Given the description of an element on the screen output the (x, y) to click on. 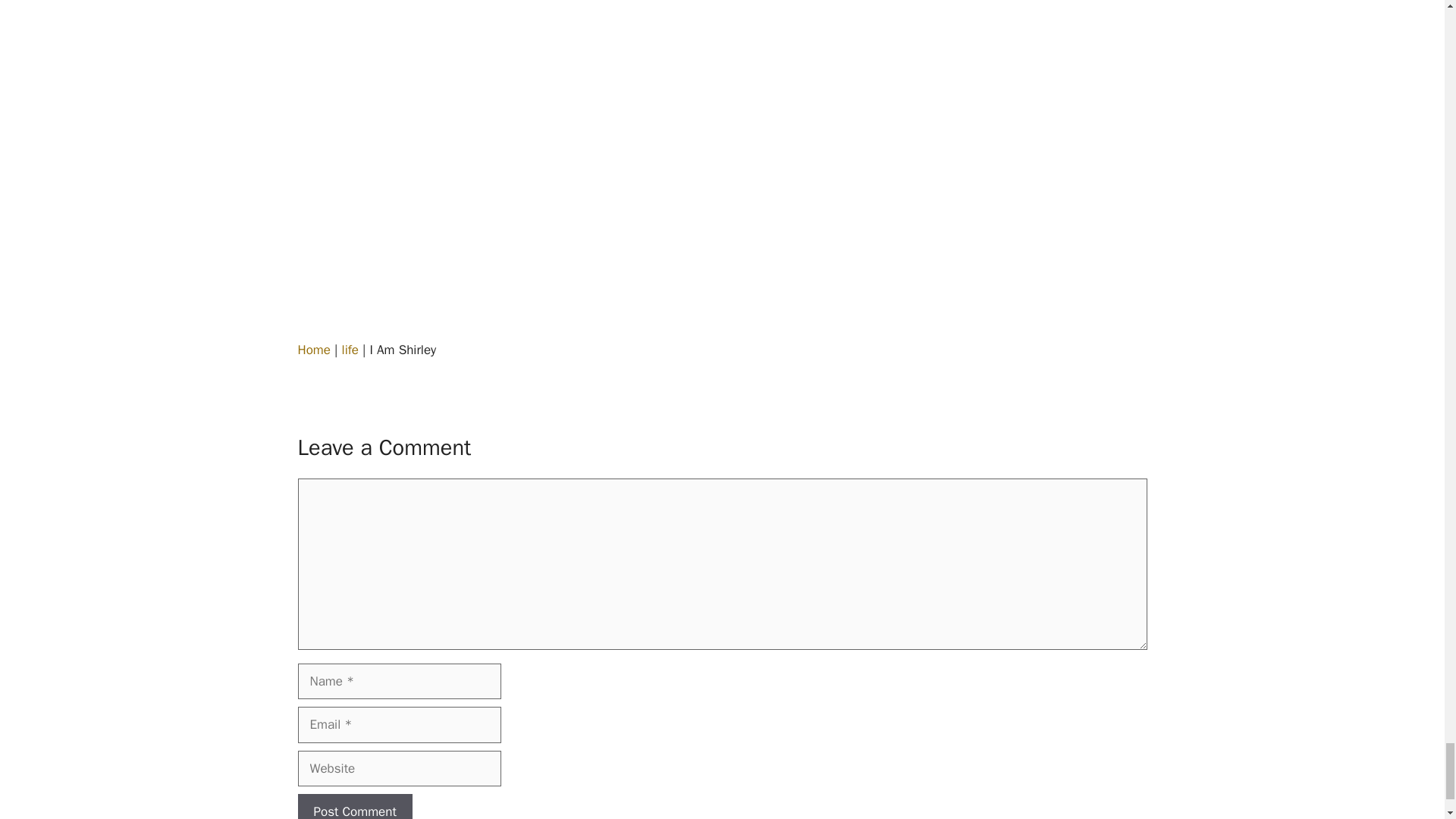
Post Comment (354, 806)
Home (313, 349)
Post Comment (354, 806)
life (350, 349)
